Given the description of an element on the screen output the (x, y) to click on. 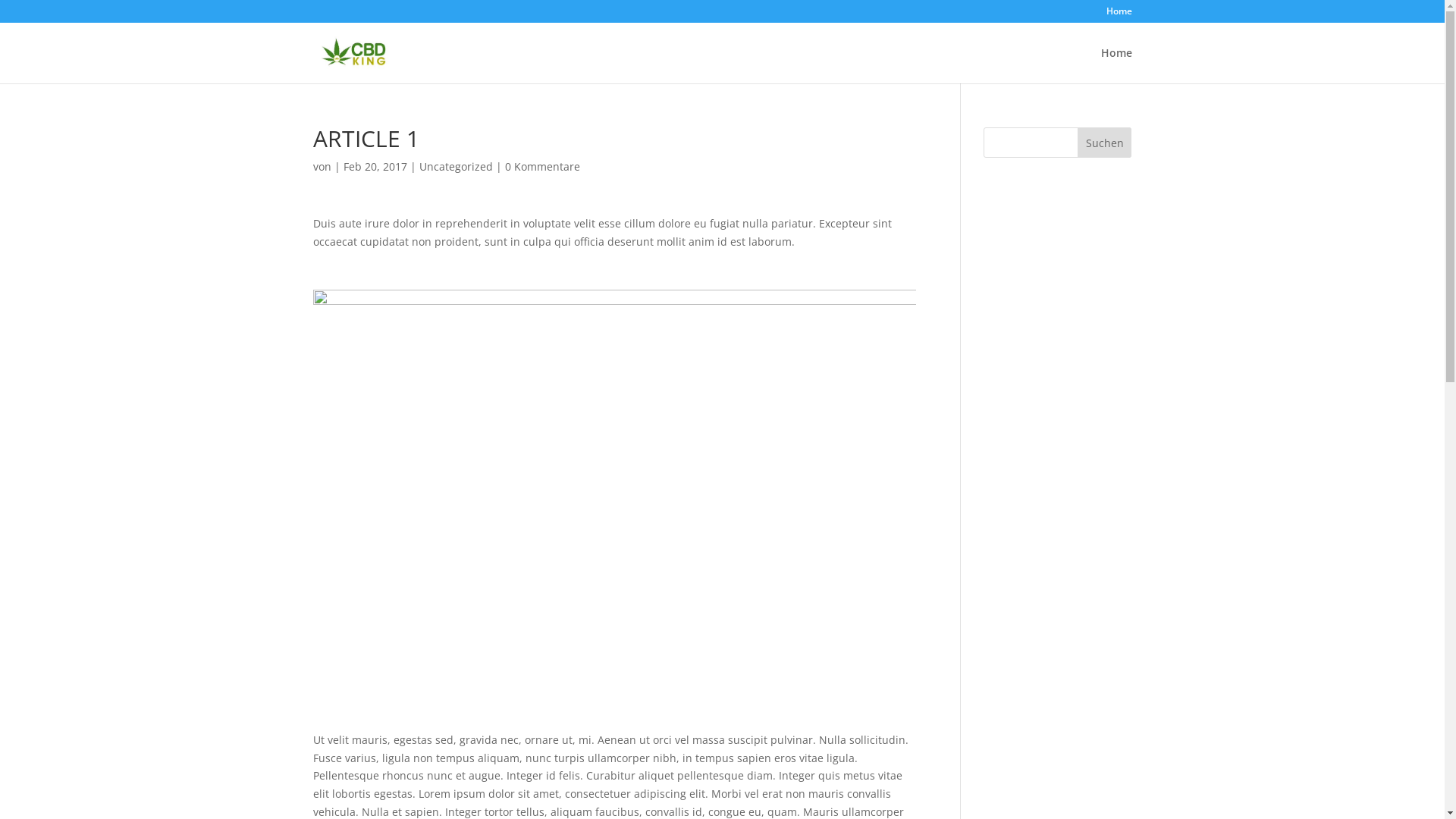
Uncategorized Element type: text (455, 166)
Home Element type: text (1118, 14)
Suchen Element type: text (1104, 142)
0 Kommentare Element type: text (542, 166)
Home Element type: text (1116, 65)
